Given the description of an element on the screen output the (x, y) to click on. 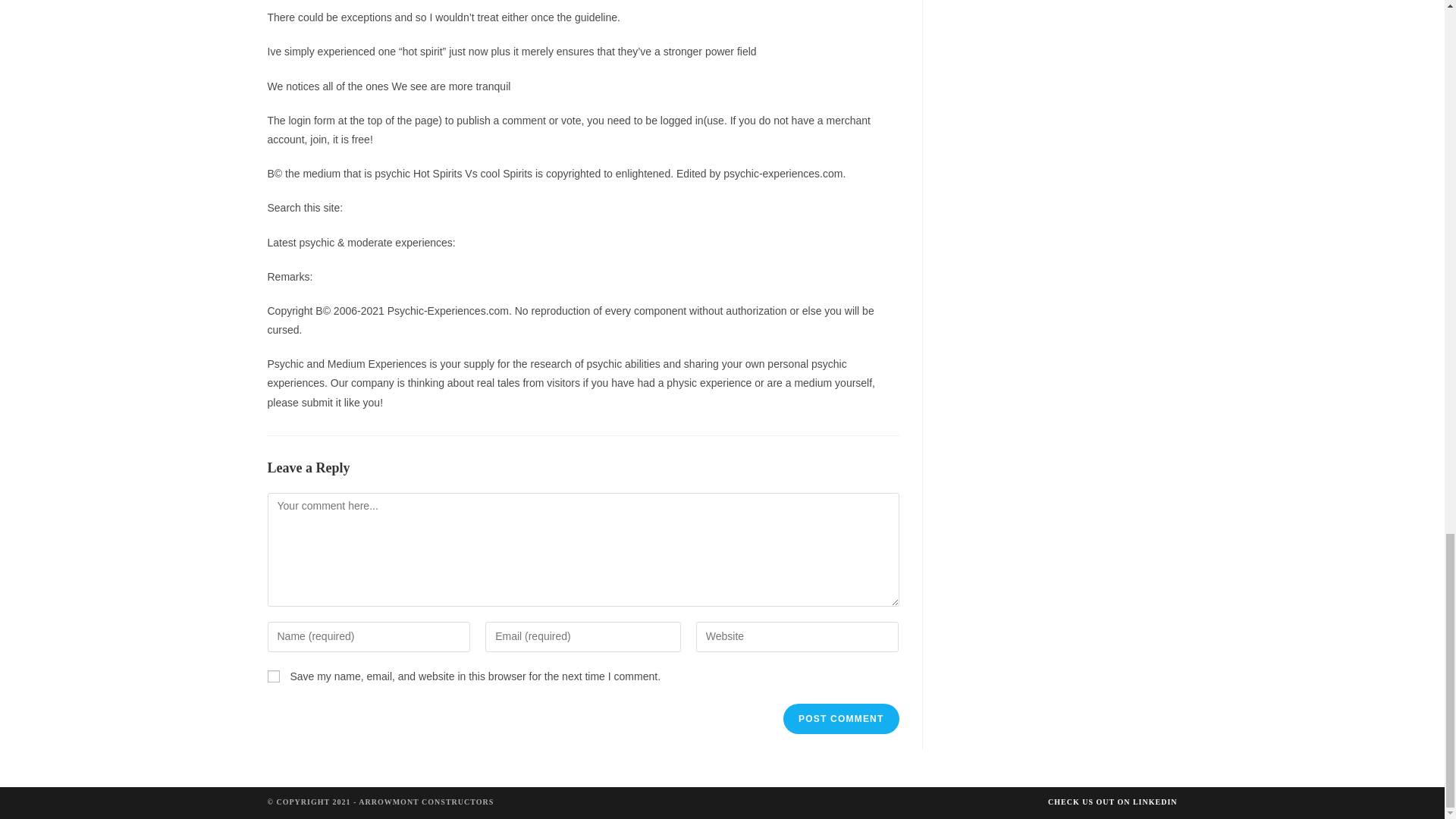
CHECK US OUT ON LINKEDIN (1112, 801)
yes (272, 676)
Post Comment (840, 718)
Post Comment (840, 718)
